Given the description of an element on the screen output the (x, y) to click on. 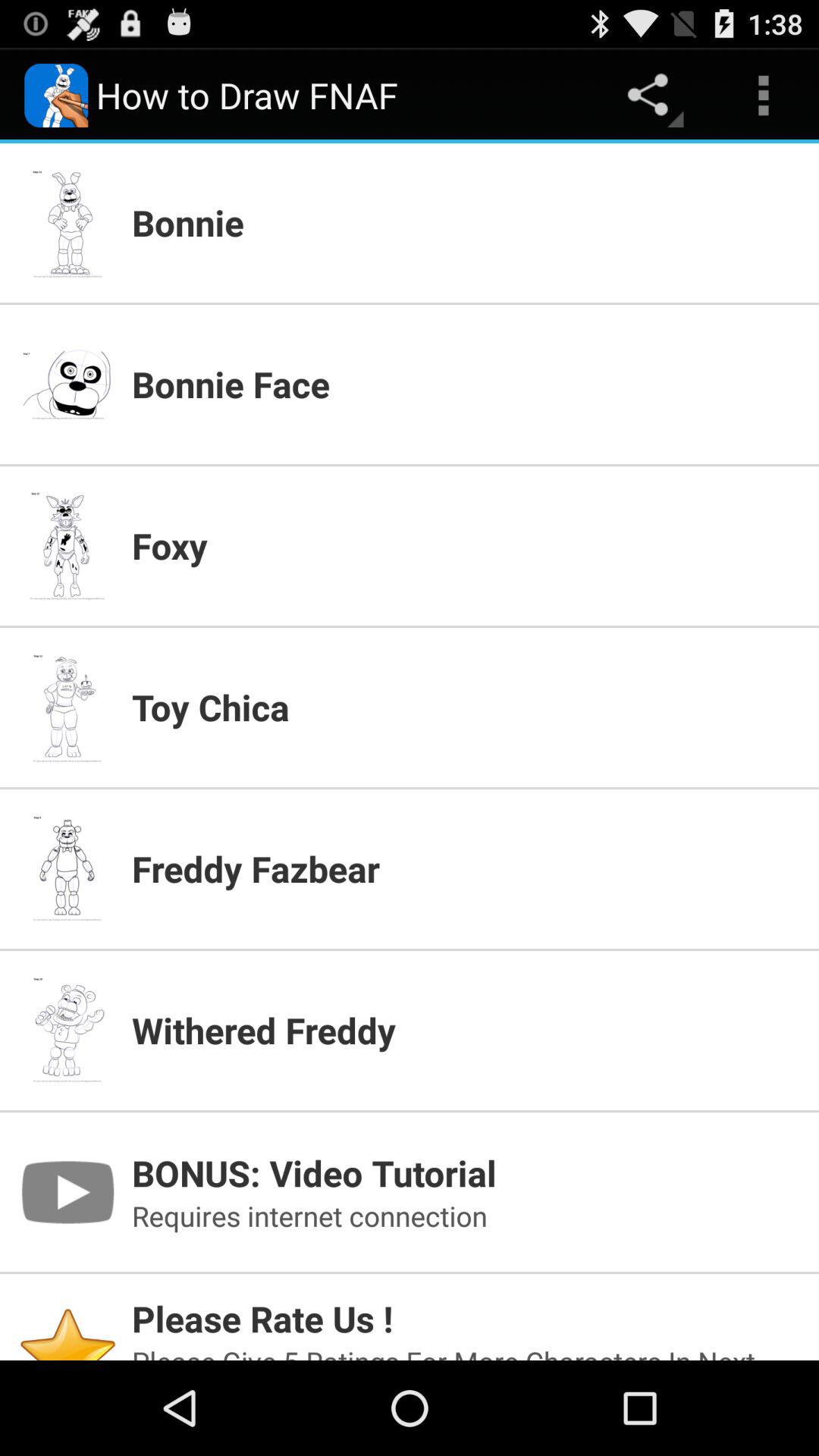
launch app above the toy chica item (465, 545)
